Given the description of an element on the screen output the (x, y) to click on. 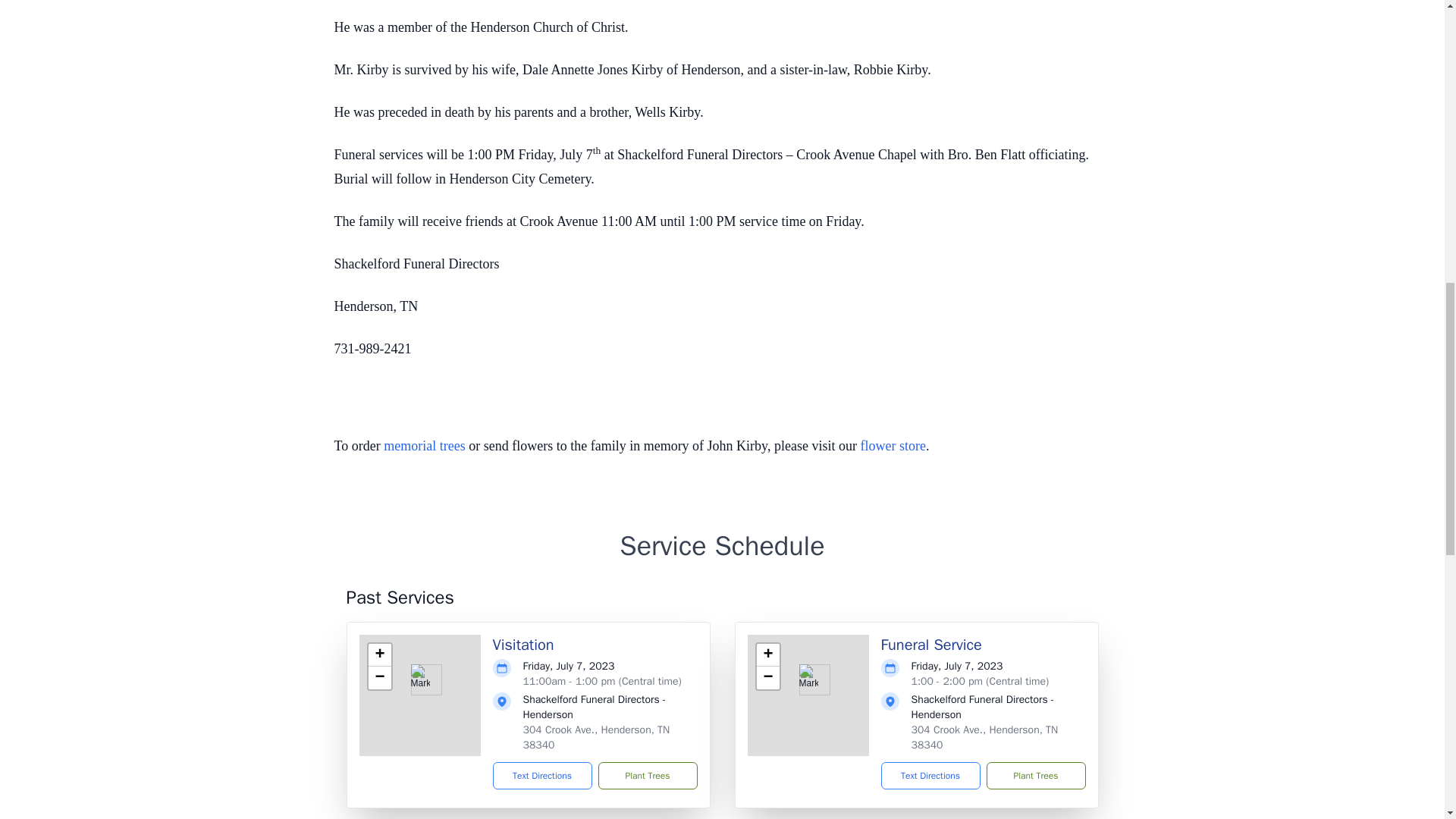
flower store (892, 445)
Text Directions (929, 775)
Plant Trees (646, 775)
304 Crook Ave., Henderson, TN 38340 (984, 737)
Zoom out (379, 677)
Plant Trees (1034, 775)
Text Directions (542, 775)
304 Crook Ave., Henderson, TN 38340 (595, 737)
Zoom in (767, 654)
Zoom in (379, 654)
memorial trees (424, 445)
Zoom out (767, 677)
